Given the description of an element on the screen output the (x, y) to click on. 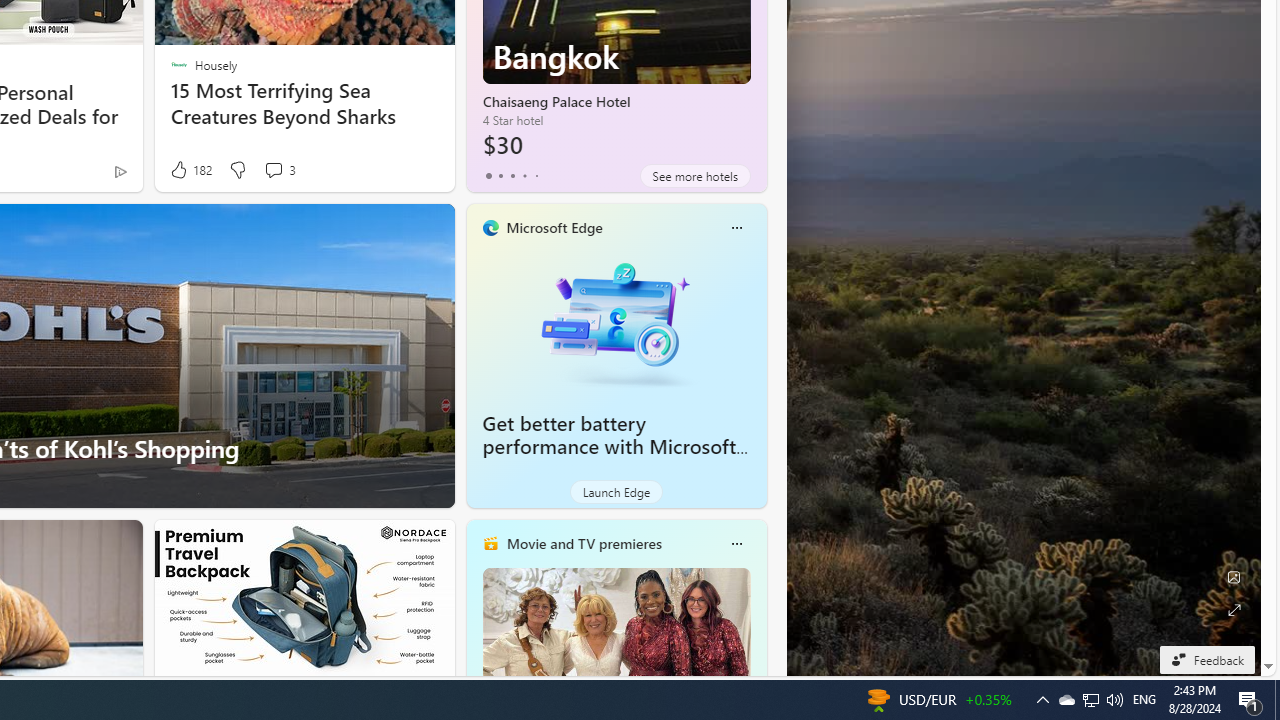
Microsoft Edge (553, 227)
tab-4 (535, 175)
Class: icon-img (736, 543)
Get better battery performance with Microsoft Edge (616, 321)
tab-3 (524, 175)
tab-1 (500, 175)
